Given the description of an element on the screen output the (x, y) to click on. 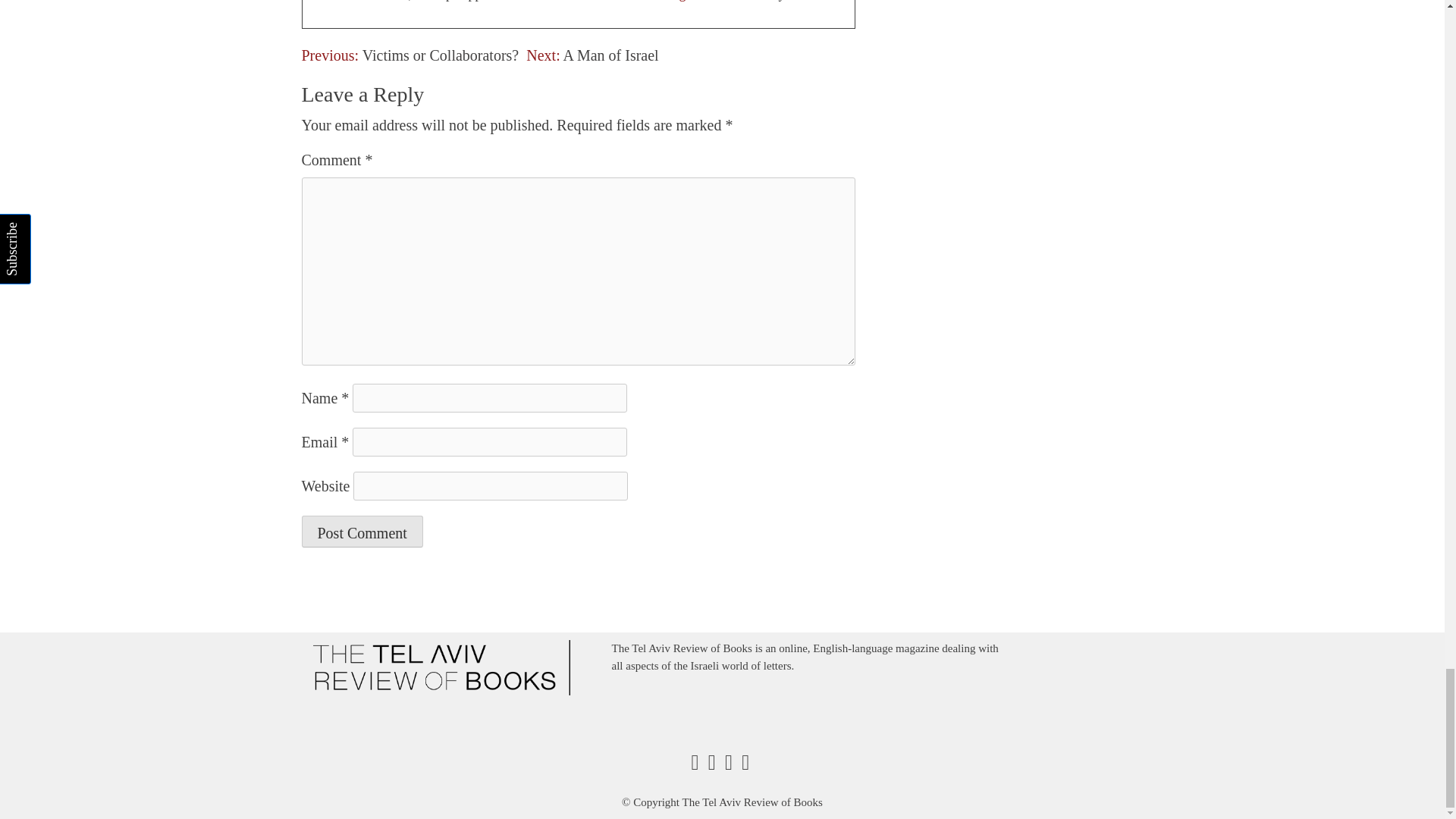
Post Comment (362, 531)
making a donation (695, 0)
Post Comment (362, 531)
Next: A Man of Israel (591, 54)
Previous: Victims or Collaborators? (410, 54)
